Given the description of an element on the screen output the (x, y) to click on. 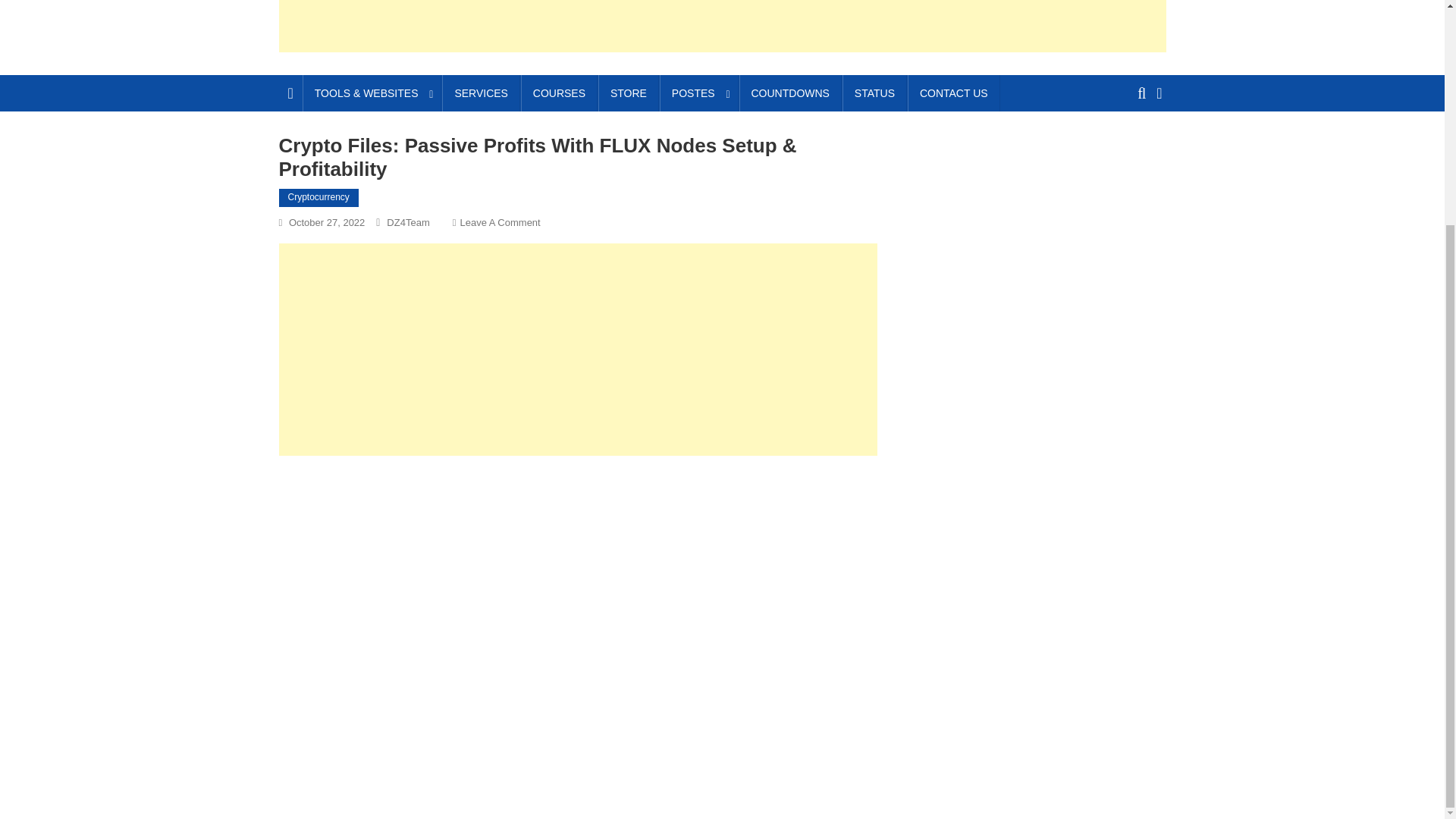
DZ4Team (408, 222)
SERVICES (480, 93)
October 27, 2022 (326, 222)
CONTACT US (953, 93)
POSTES (698, 93)
STORE (628, 93)
Cryptocurrency (318, 198)
COUNTDOWNS (789, 93)
Advertisement (722, 26)
STATUS (875, 93)
